Given the description of an element on the screen output the (x, y) to click on. 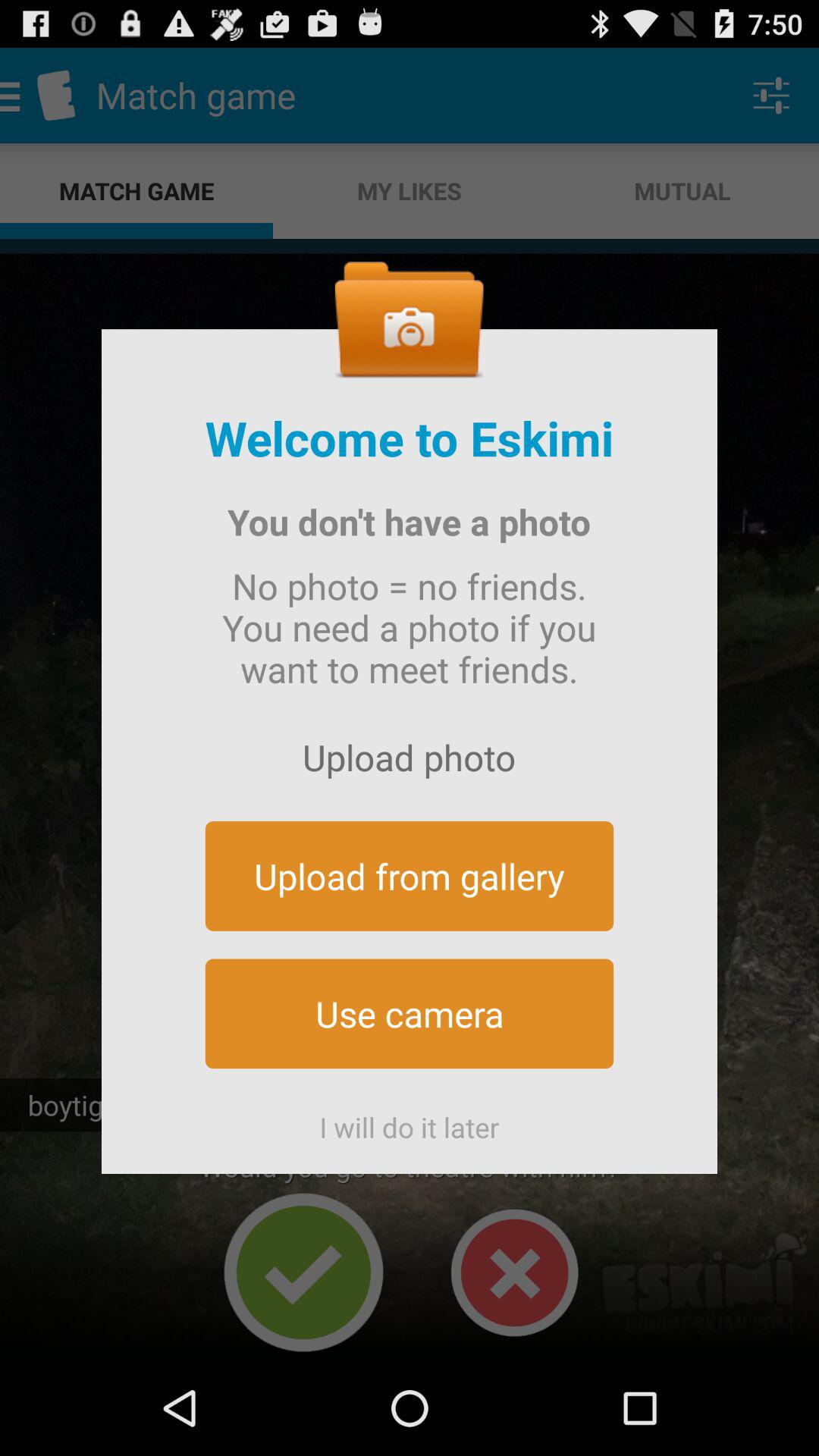
open item below the upload photo (409, 876)
